Given the description of an element on the screen output the (x, y) to click on. 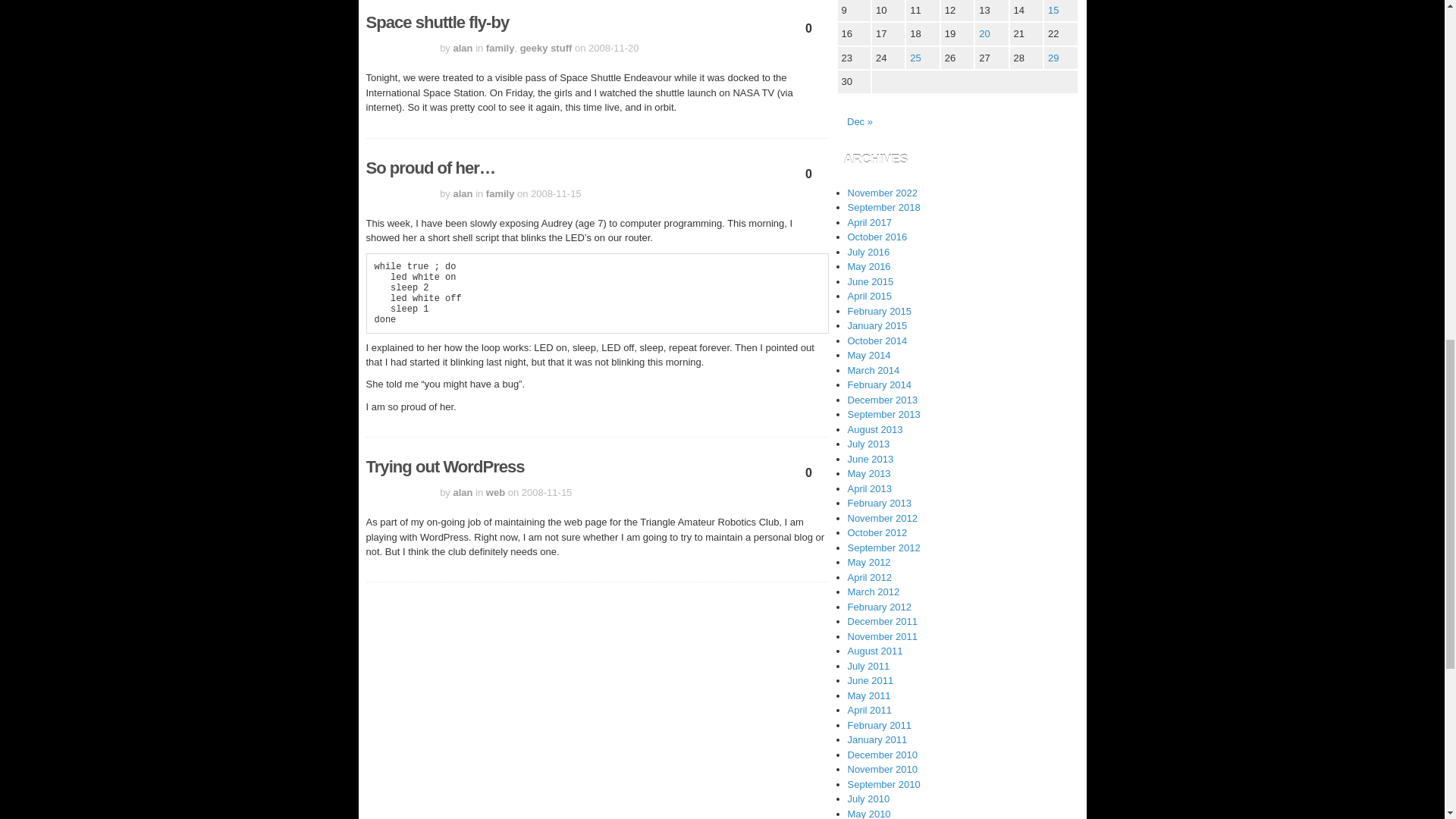
Permalink to Trying out WordPress (444, 466)
Trying out WordPress (444, 466)
Posts by alan (461, 193)
0 (809, 477)
family (500, 193)
Posts by alan (461, 491)
Space shuttle fly-by (436, 22)
geeky stuff (545, 48)
0 (809, 32)
0 (809, 178)
alan (461, 491)
Posts by alan (461, 48)
Permalink to Space shuttle fly-by (436, 22)
alan (461, 48)
alan (461, 193)
